Given the description of an element on the screen output the (x, y) to click on. 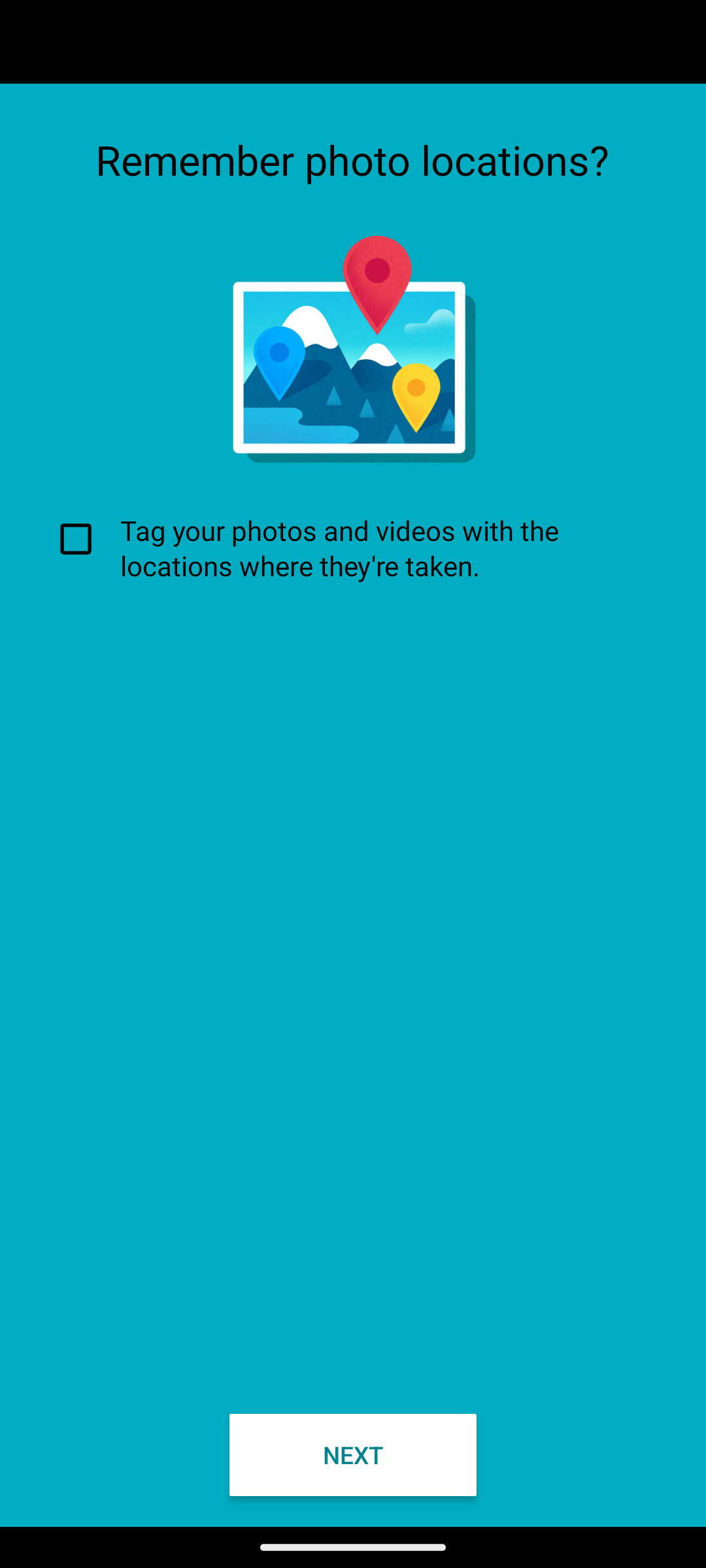
NEXT (352, 1454)
